Given the description of an element on the screen output the (x, y) to click on. 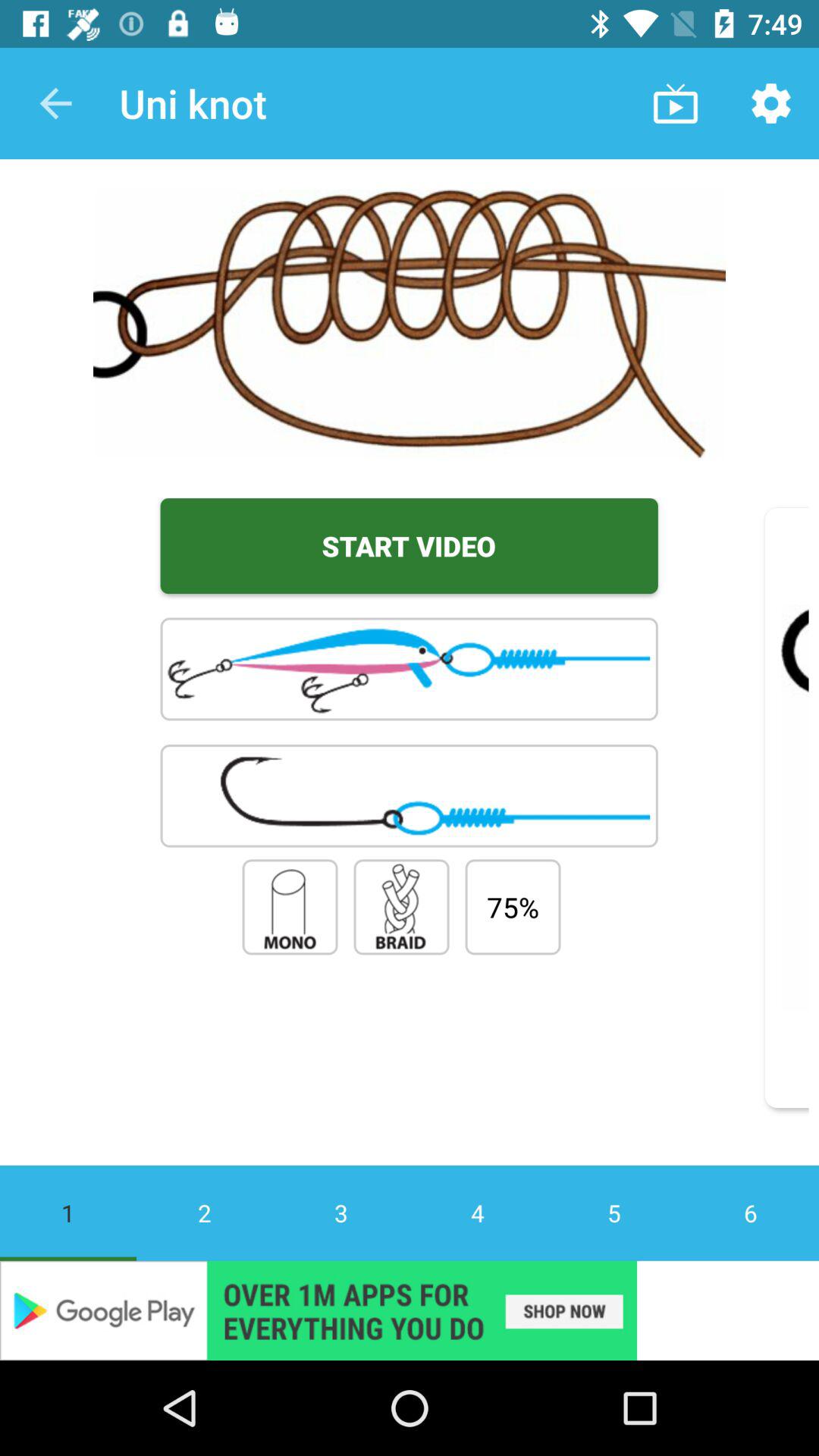
banner advertisement (409, 1310)
